Given the description of an element on the screen output the (x, y) to click on. 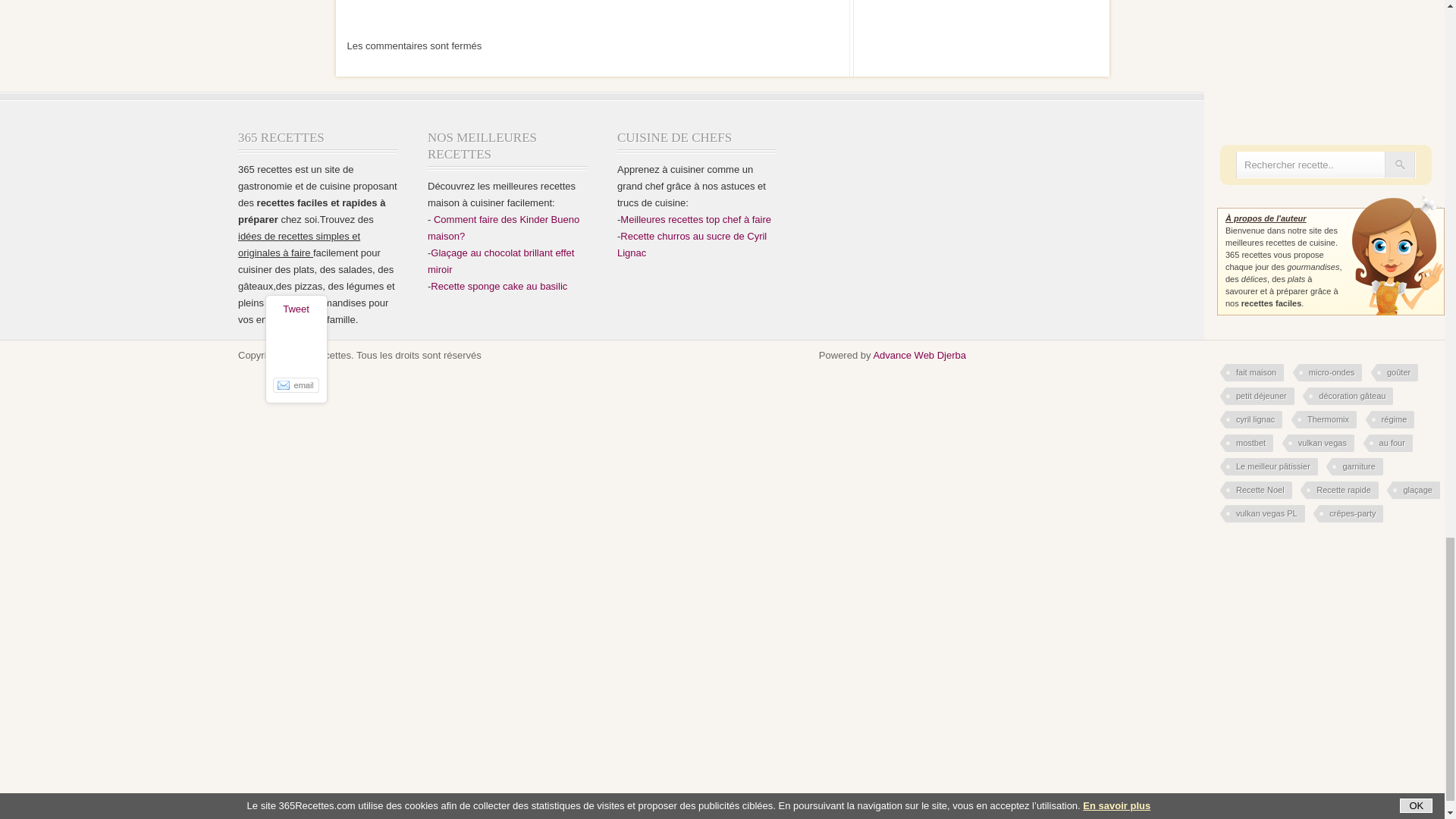
Rechercher recette.. (1310, 164)
